Given the description of an element on the screen output the (x, y) to click on. 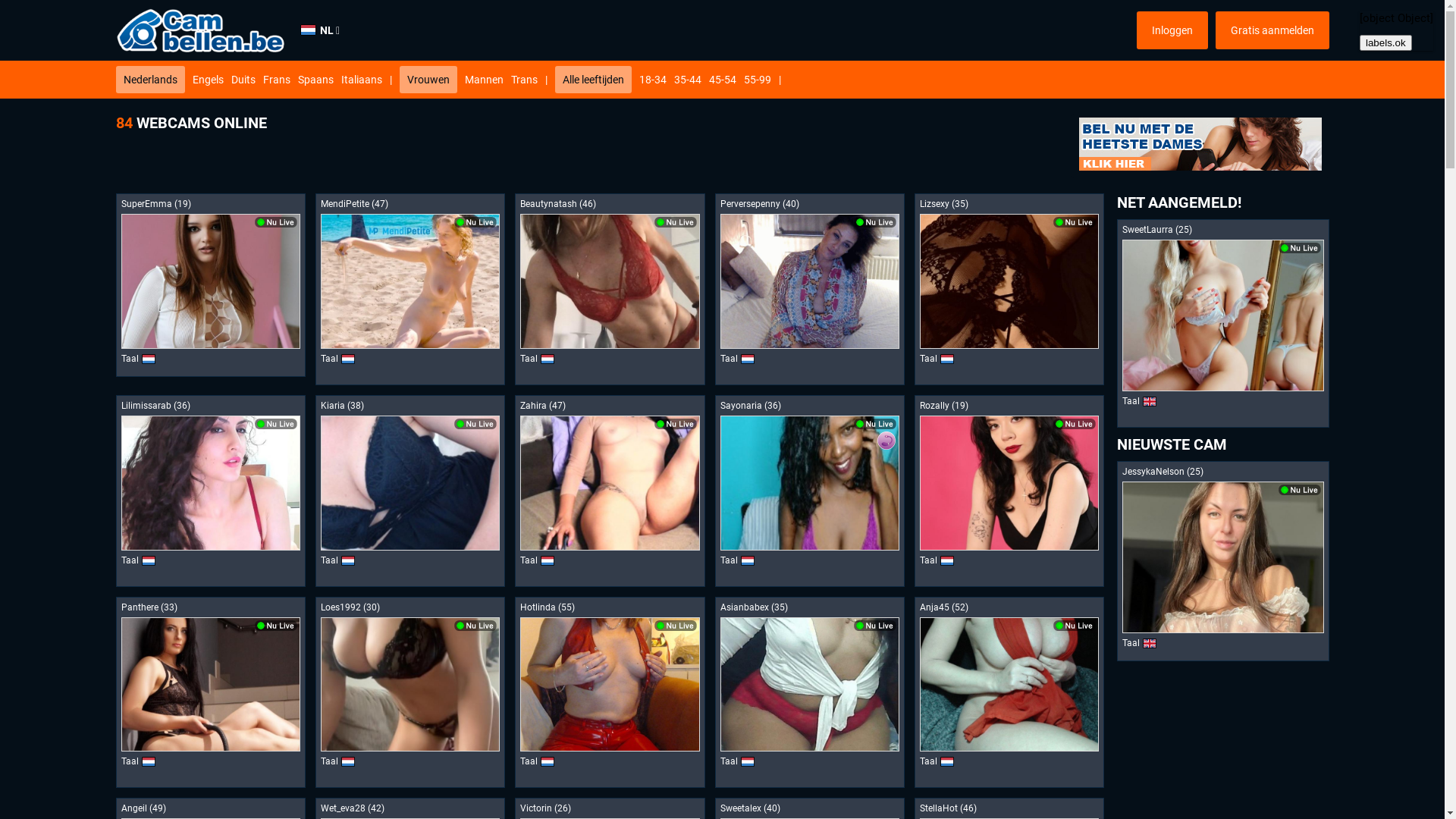
Perversepenny (40)
Taal Element type: text (809, 289)
SuperEmma (19)
Taal Element type: text (209, 284)
Hotlinda (55)
Taal Element type: text (609, 692)
Zahira (47)
Taal Element type: text (609, 490)
Beautynatash (46)
Taal Element type: text (609, 289)
Sayonaria (36)
Taal Element type: text (809, 490)
Lizsexy (35)
Taal Element type: text (1009, 289)
Panthere (33)
Taal Element type: text (209, 692)
SweetLaurra (25)
Taal Element type: text (1222, 323)
Loes1992 (30)
Taal Element type: text (410, 692)
Lilimissarab (36)
Taal Element type: text (209, 490)
Rozally (19)
Taal Element type: text (1009, 490)
Anja45 (52)
Taal Element type: text (1009, 692)
labels.ok Element type: text (1385, 42)
NL Element type: text (319, 30)
Gratis aanmelden Element type: text (1271, 30)
MendiPetite (47)
Taal Element type: text (410, 289)
Asianbabex (35)
Taal Element type: text (809, 692)
JessykaNelson (25)
Taal Element type: text (1222, 561)
Kiaria (38)
Taal Element type: text (410, 490)
Inloggen Element type: text (1171, 30)
